Given the description of an element on the screen output the (x, y) to click on. 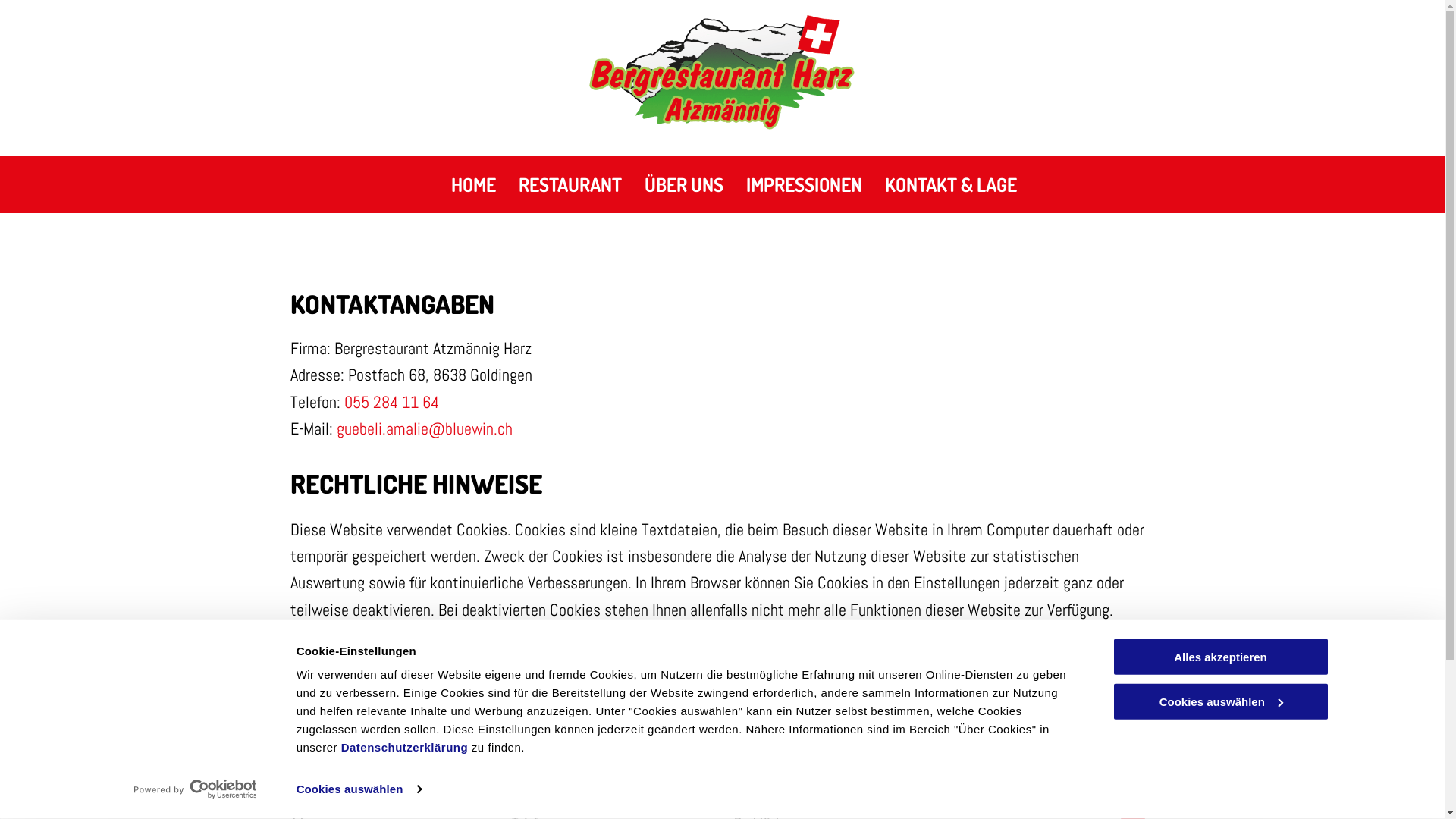
localsearch.ch Element type: text (493, 656)
guebeli.amalie@bluewin.ch Element type: text (424, 428)
search.ch Element type: text (561, 683)
IMPRESSIONEN Element type: text (804, 185)
RESTAURANT Element type: text (569, 185)
KONTAKT & LAGE Element type: text (950, 185)
HOME Element type: text (472, 185)
local.ch Element type: text (474, 683)
Alles akzeptieren Element type: text (1219, 656)
055 284 11 64 Element type: text (391, 401)
